Given the description of an element on the screen output the (x, y) to click on. 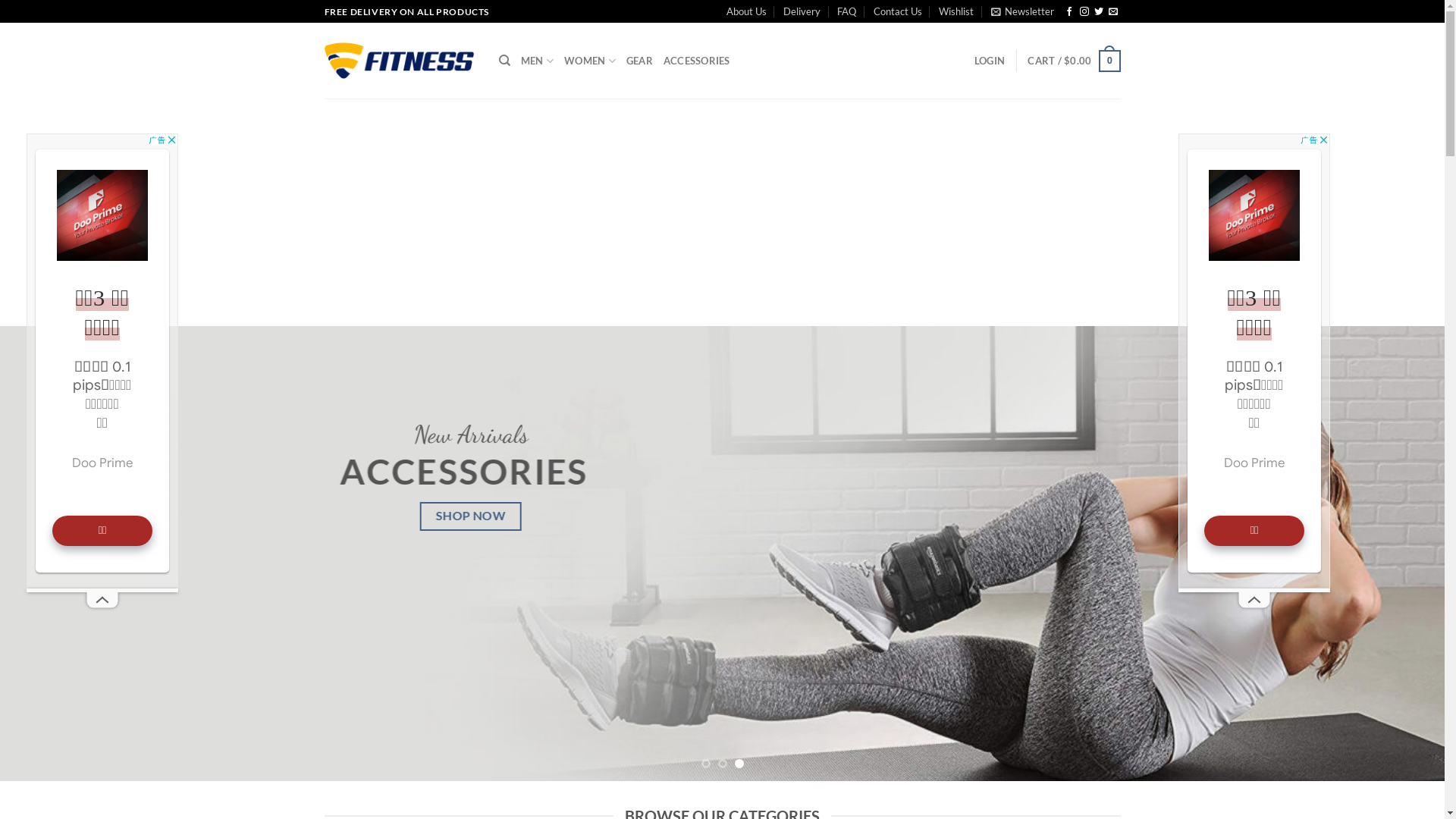
CART / $0.00
0 Element type: text (1073, 61)
Wishlist Element type: text (955, 11)
Follow on Instagram Element type: hover (1083, 11)
MEN Element type: text (536, 60)
About Us Element type: text (746, 11)
LOGIN Element type: text (989, 60)
FAQ Element type: text (846, 11)
WOMEN Element type: text (589, 60)
Follow on Facebook Element type: hover (1068, 11)
Advertisement Element type: hover (102, 360)
Exercise and Fitness Equipment - Fitness Element type: hover (400, 60)
Delivery Element type: text (801, 11)
Newsletter Element type: text (1022, 11)
Advertisement Element type: hover (1254, 360)
SHOP NOW Element type: text (476, 516)
Send us an email Element type: hover (1112, 11)
Follow on Twitter Element type: hover (1098, 11)
ACCESSORIES Element type: text (696, 60)
Advertisement Element type: hover (721, 212)
GEAR Element type: text (639, 60)
Contact Us Element type: text (897, 11)
